Given the description of an element on the screen output the (x, y) to click on. 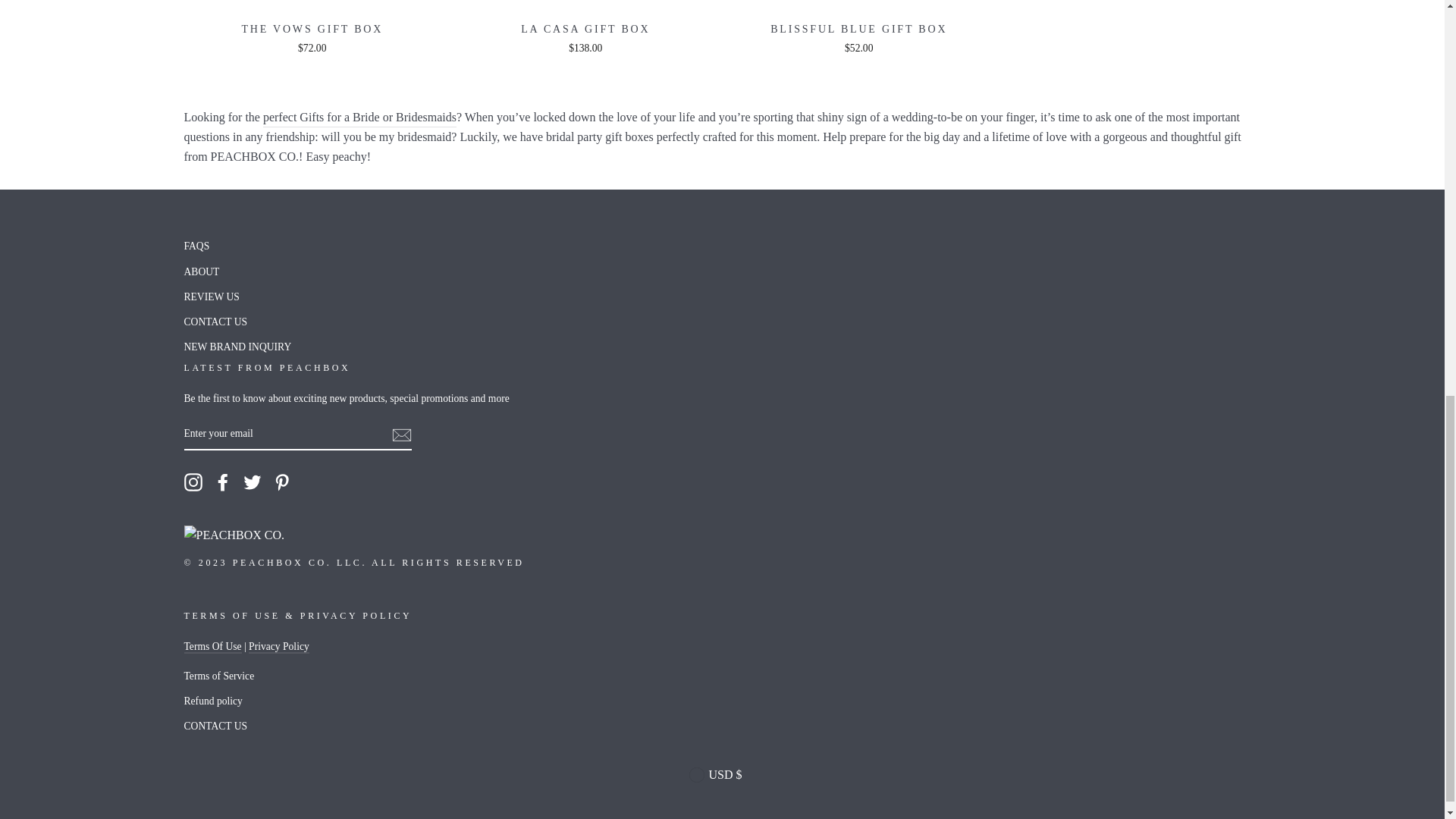
PEACHBOX CO. on Facebook (222, 482)
PEACHBOX CO. on Instagram (192, 482)
PEACHBOX CO. on Twitter (251, 482)
PEACHBOX CO. on Pinterest (282, 482)
